Given the description of an element on the screen output the (x, y) to click on. 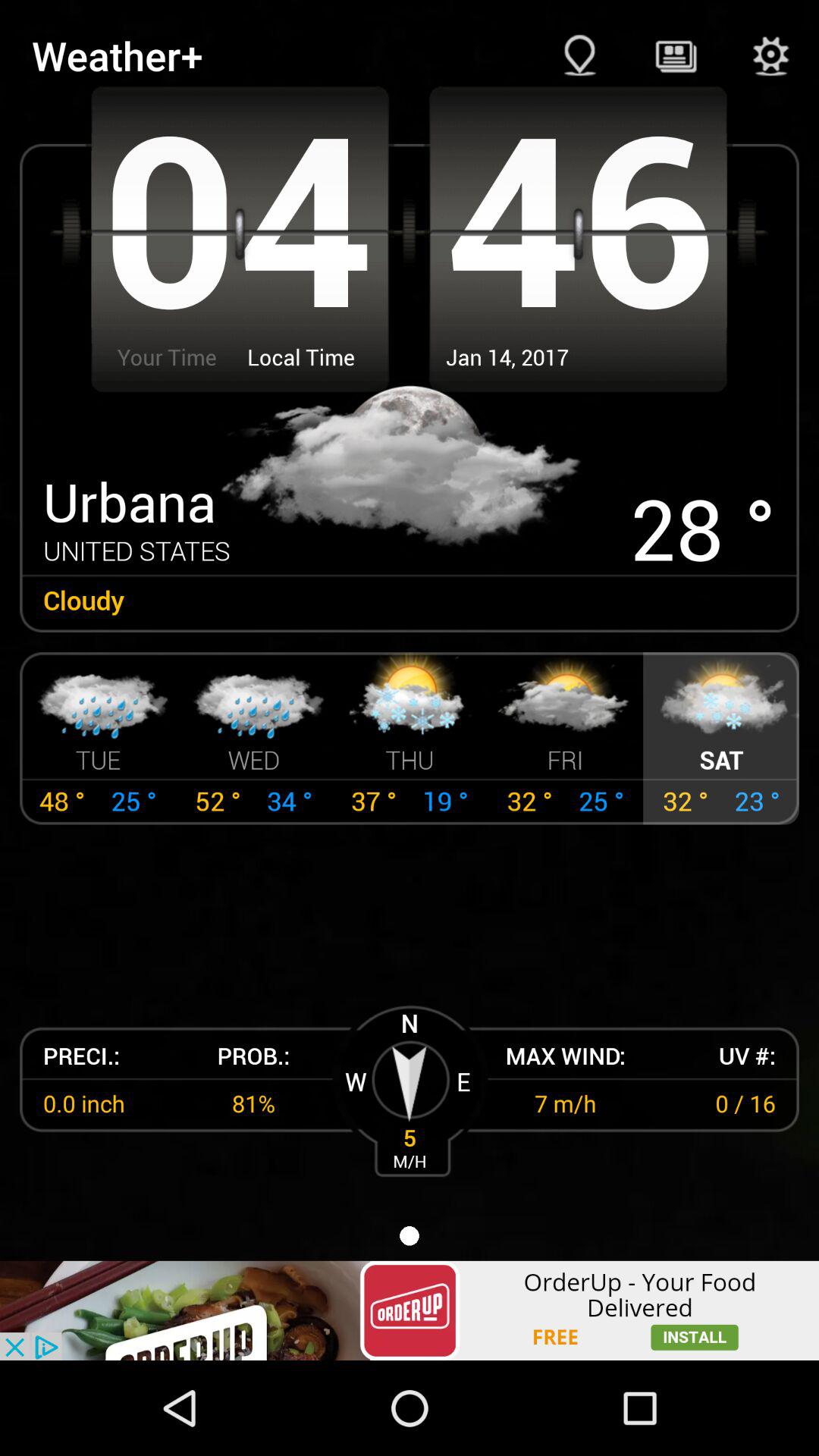
advertisement page (409, 1310)
